Given the description of an element on the screen output the (x, y) to click on. 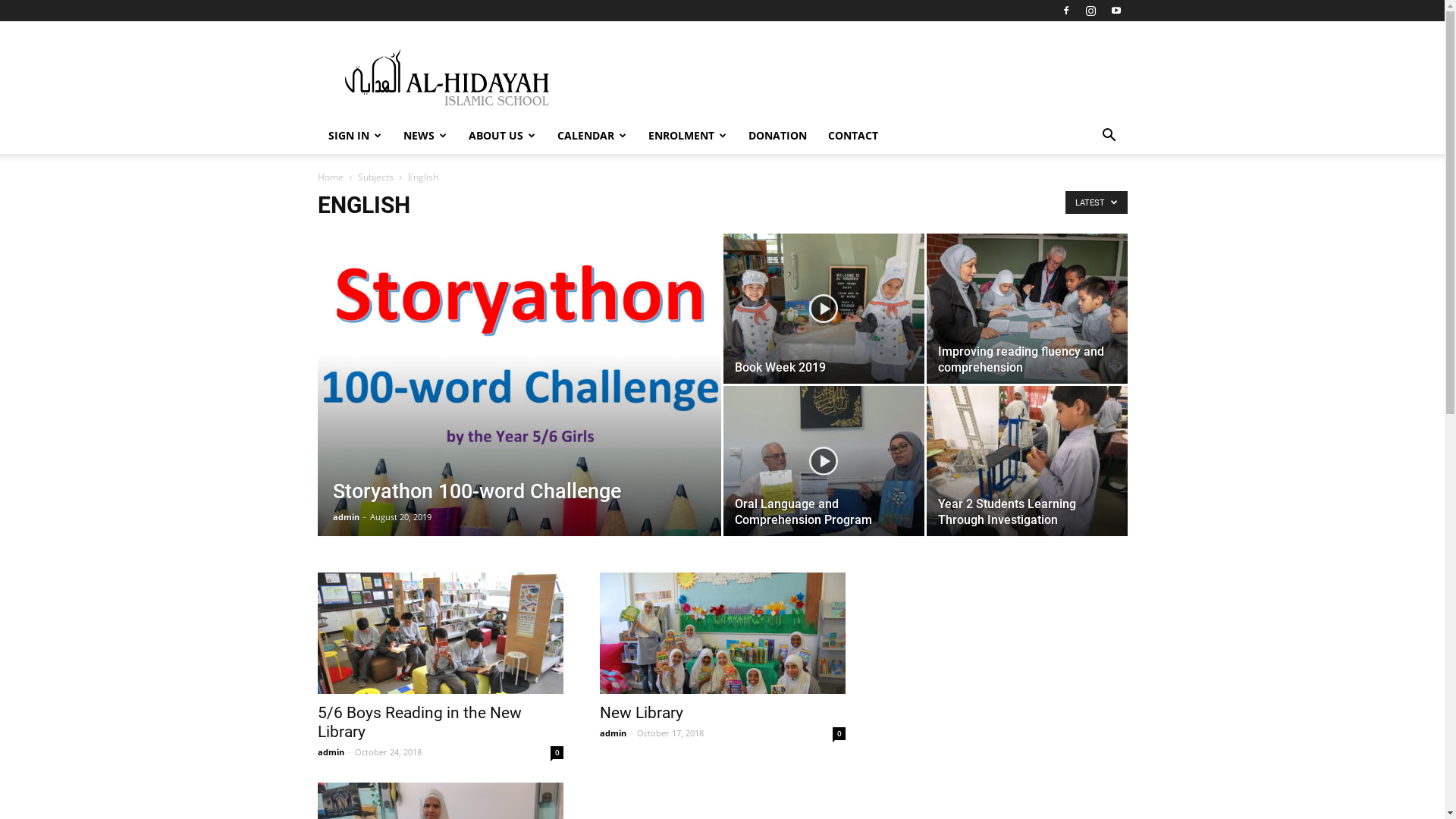
Instagram Element type: hover (1090, 10)
admin Element type: text (329, 751)
admin Element type: text (345, 516)
Home Element type: text (329, 176)
Youtube Element type: hover (1115, 10)
SIGN IN Element type: text (354, 135)
ABOUT US Element type: text (502, 135)
ENROLMENT Element type: text (687, 135)
Storyathon 100-word Challenge Element type: hover (518, 408)
DONATION Element type: text (776, 135)
CALENDAR Element type: text (591, 135)
0 Element type: text (838, 733)
admin Element type: text (612, 732)
Subjects Element type: text (375, 176)
5/6 Boys Reading in the New Library Element type: hover (439, 632)
Facebook Element type: hover (1065, 10)
Storyathon 100-word Challenge Element type: hover (518, 408)
Improving reading fluency and comprehension Element type: text (1020, 359)
Book Week 2019 Element type: hover (823, 308)
Storyathon 100-word Challenge Element type: text (476, 491)
Year 2 Students Learning Through Investigation Element type: hover (1026, 460)
CONTACT Element type: text (852, 135)
Oral Language and Comprehension Program Element type: hover (823, 460)
Book Week 2019 Element type: text (779, 367)
0 Element type: text (556, 752)
Search Element type: text (1085, 196)
Improving reading fluency and comprehension Element type: hover (1026, 308)
Oral Language and Comprehension Program Element type: text (802, 511)
5/6 Boys Reading in the New Library Element type: text (418, 721)
NEWS Element type: text (425, 135)
New Library Element type: text (640, 712)
Year 2 Students Learning Through Investigation Element type: text (1006, 511)
New Library Element type: hover (721, 632)
